Given the description of an element on the screen output the (x, y) to click on. 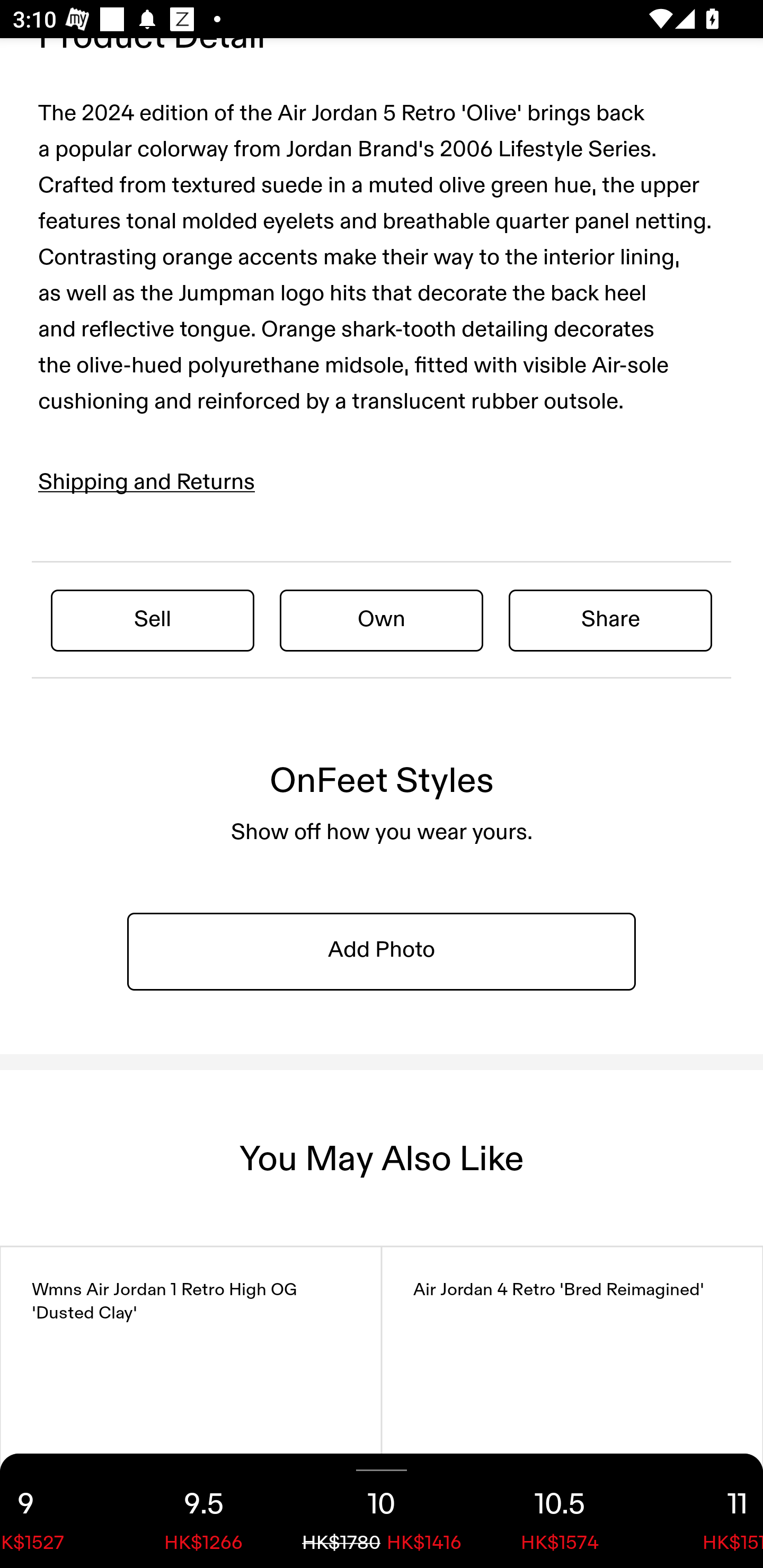
Shipping and Returns (146, 482)
Sell (152, 620)
Own (381, 620)
Share (609, 620)
Add Photo (381, 950)
Wmns Air Jordan 1 Retro High OG 'Dusted Clay' (190, 1407)
Air Jordan 4 Retro 'Bred Reimagined' (572, 1407)
9 HK$1527 (57, 1510)
9.5 HK$1266 (203, 1510)
10 HK$1780 HK$1416 (381, 1510)
10.5 HK$1574 (559, 1510)
11 HK$1511 (705, 1510)
